Given the description of an element on the screen output the (x, y) to click on. 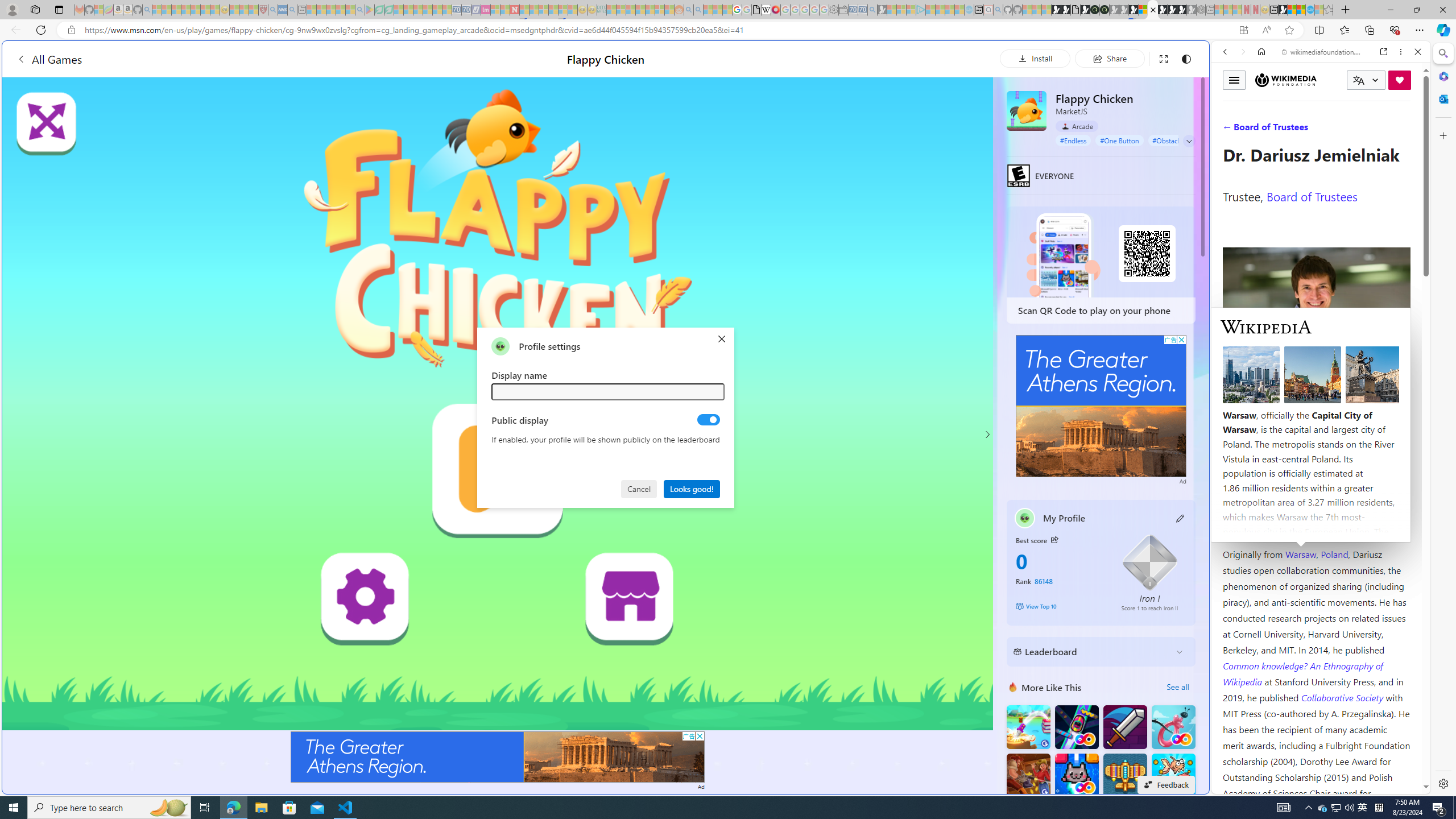
Class: b_serphb (1404, 130)
